Given the description of an element on the screen output the (x, y) to click on. 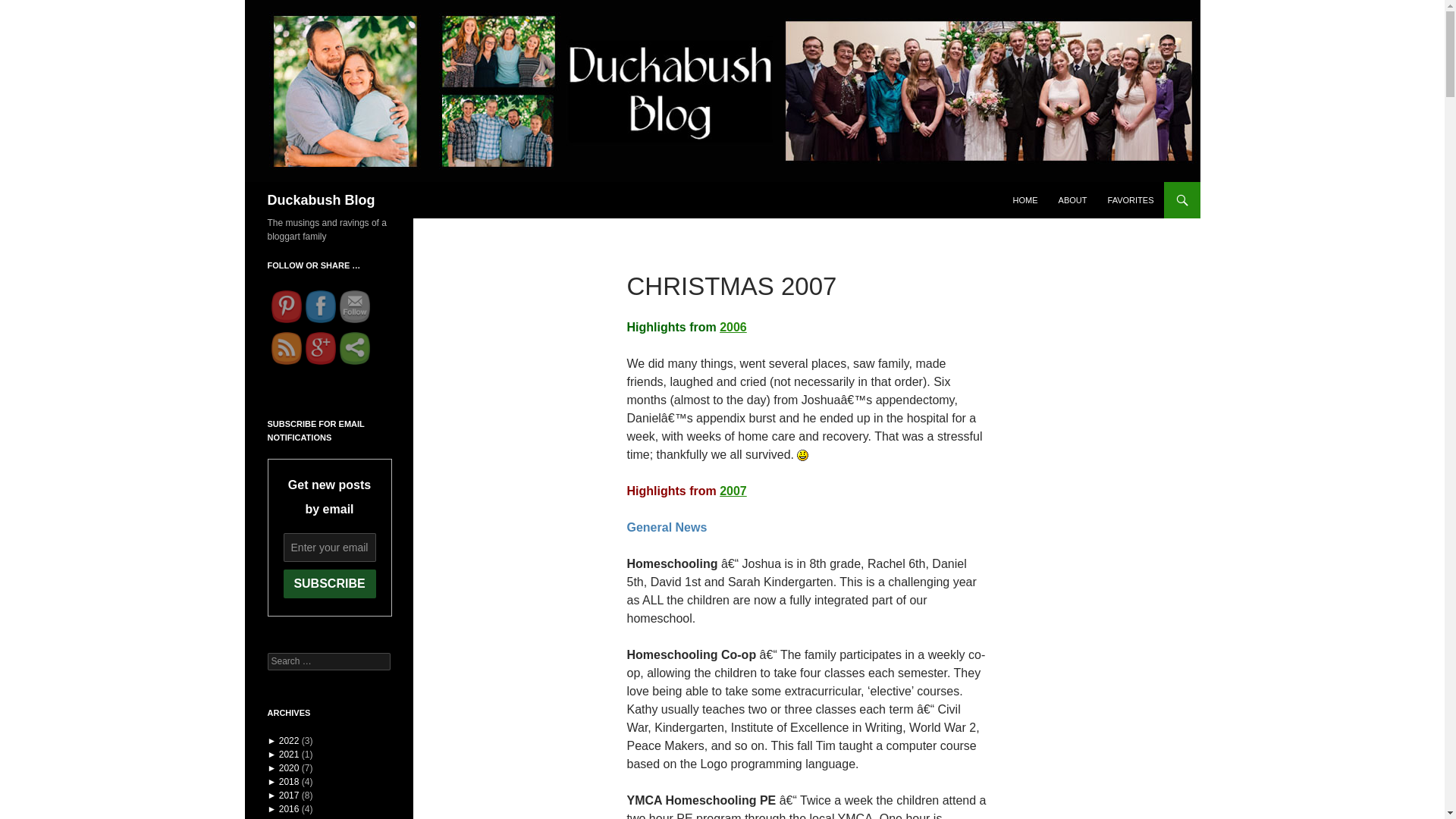
SKIP TO CONTENT (1050, 187)
ABOUT (1072, 199)
Search (267, 190)
Subscribe (329, 583)
FAVORITES (1131, 199)
Subscribe (329, 583)
HOME (1025, 199)
Pinterest (285, 306)
Duckabush Blog (320, 200)
2006 (732, 327)
2007 (732, 490)
Search (30, 8)
Facebook (319, 306)
